Given the description of an element on the screen output the (x, y) to click on. 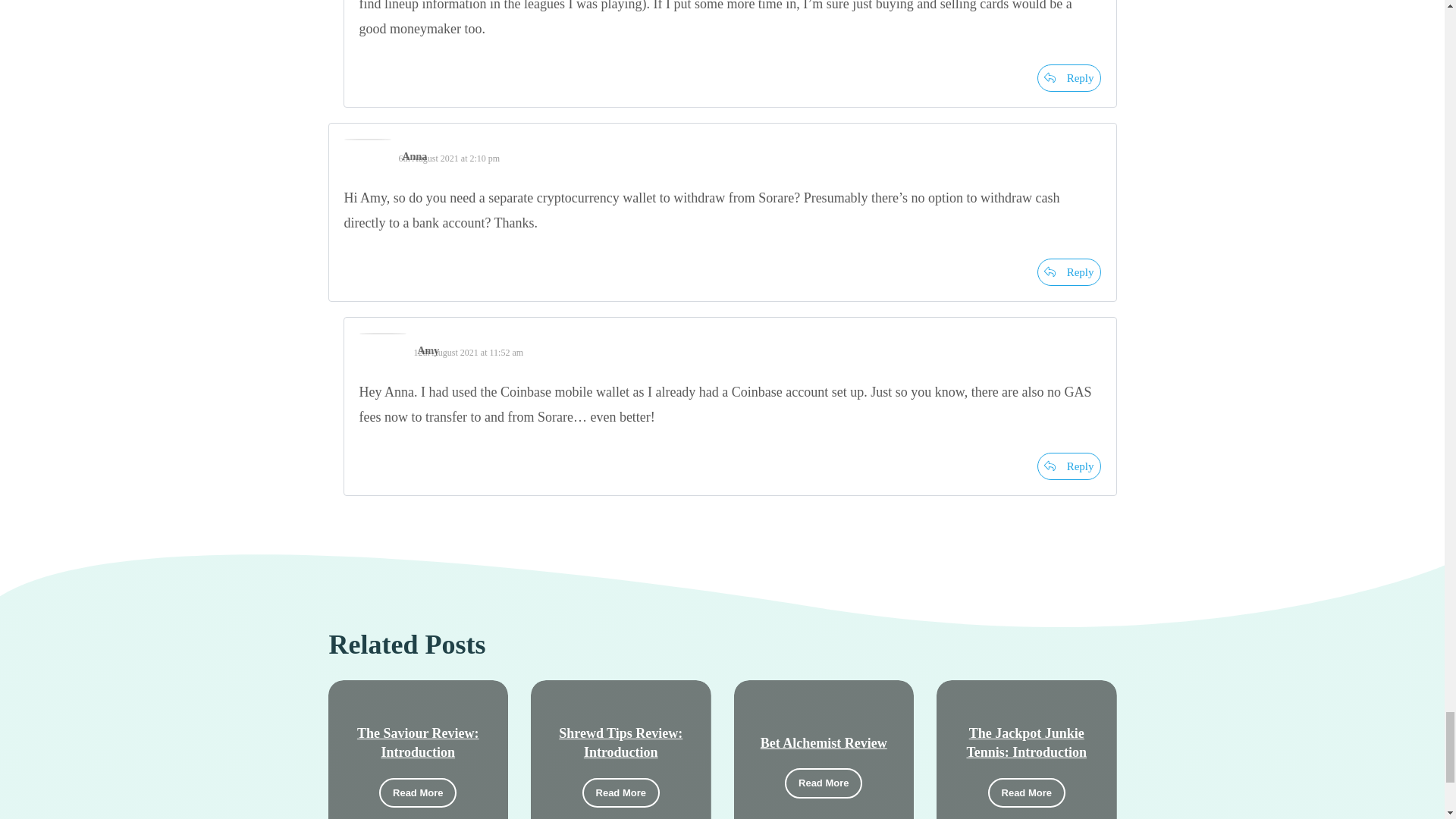
Shrewd Tips Review: Introduction (620, 742)
The Saviour Review: Introduction (417, 742)
Bet Alchemist Review (823, 743)
The Jackpot Junkie Tennis: Introduction (1026, 742)
